Given the description of an element on the screen output the (x, y) to click on. 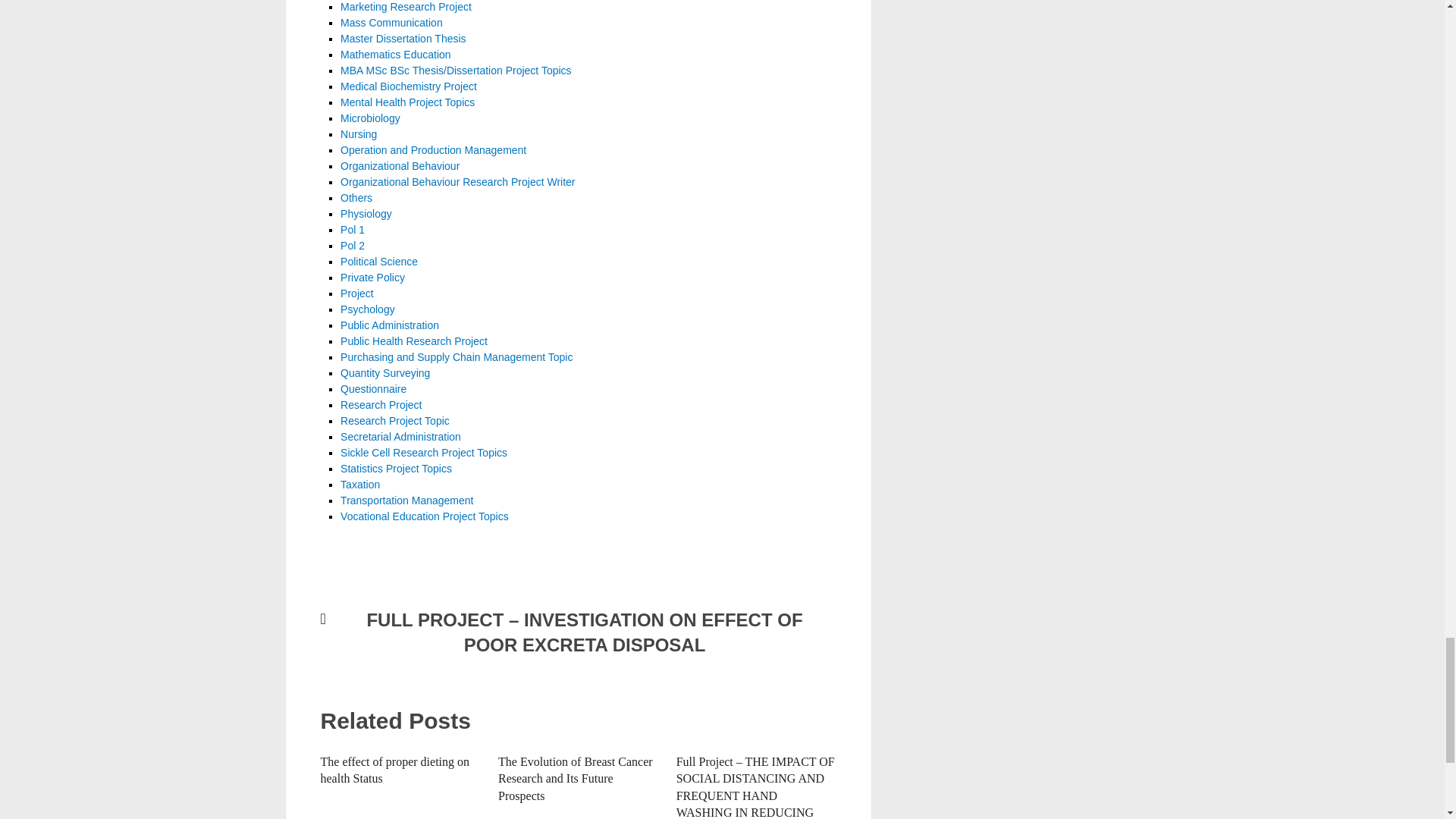
The effect of proper dieting on health Status (394, 769)
